Given the description of an element on the screen output the (x, y) to click on. 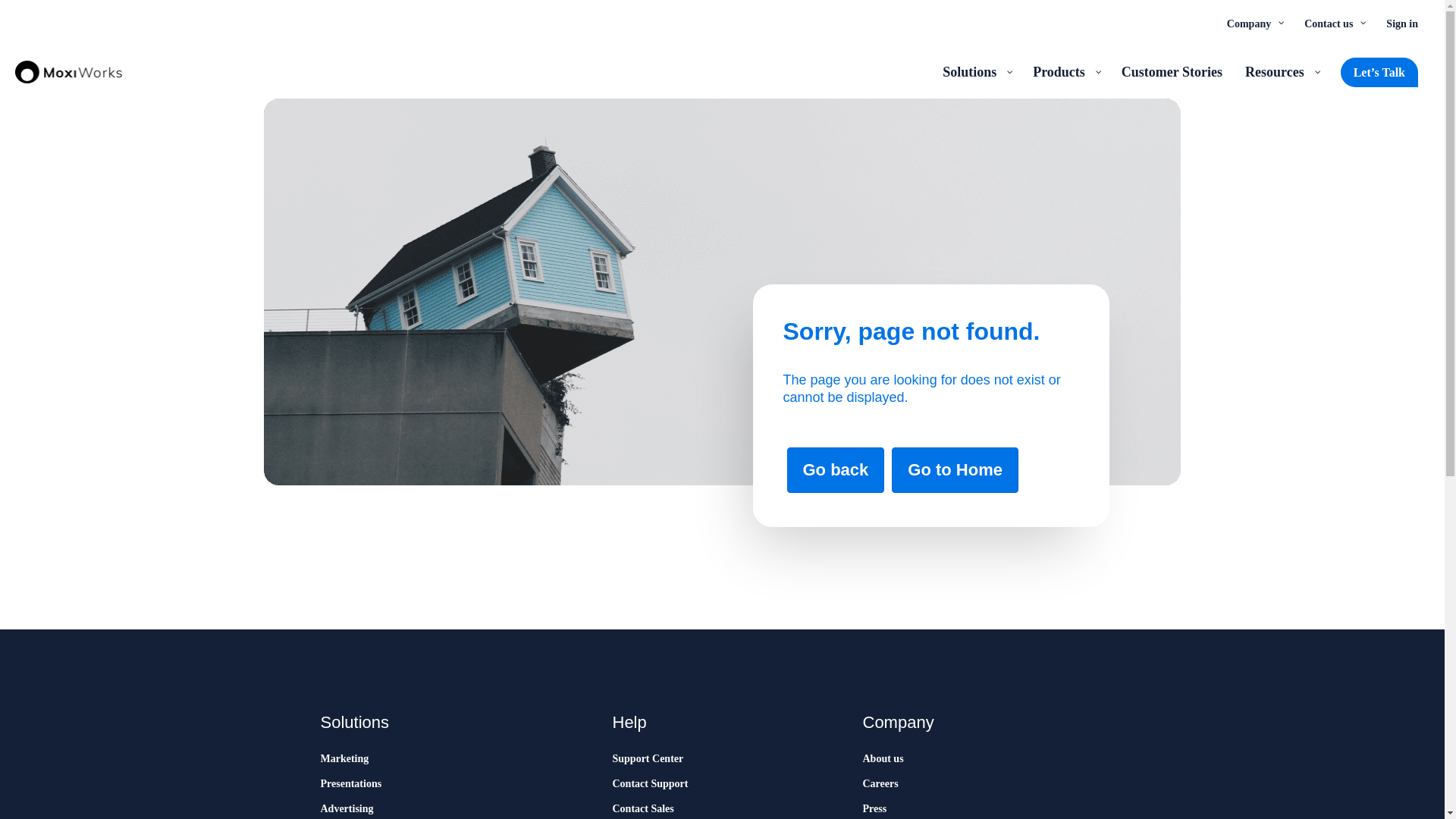
Solutions (976, 72)
Products (1065, 72)
Company (1253, 22)
Sign in (1401, 22)
Contact us (1333, 22)
